Given the description of an element on the screen output the (x, y) to click on. 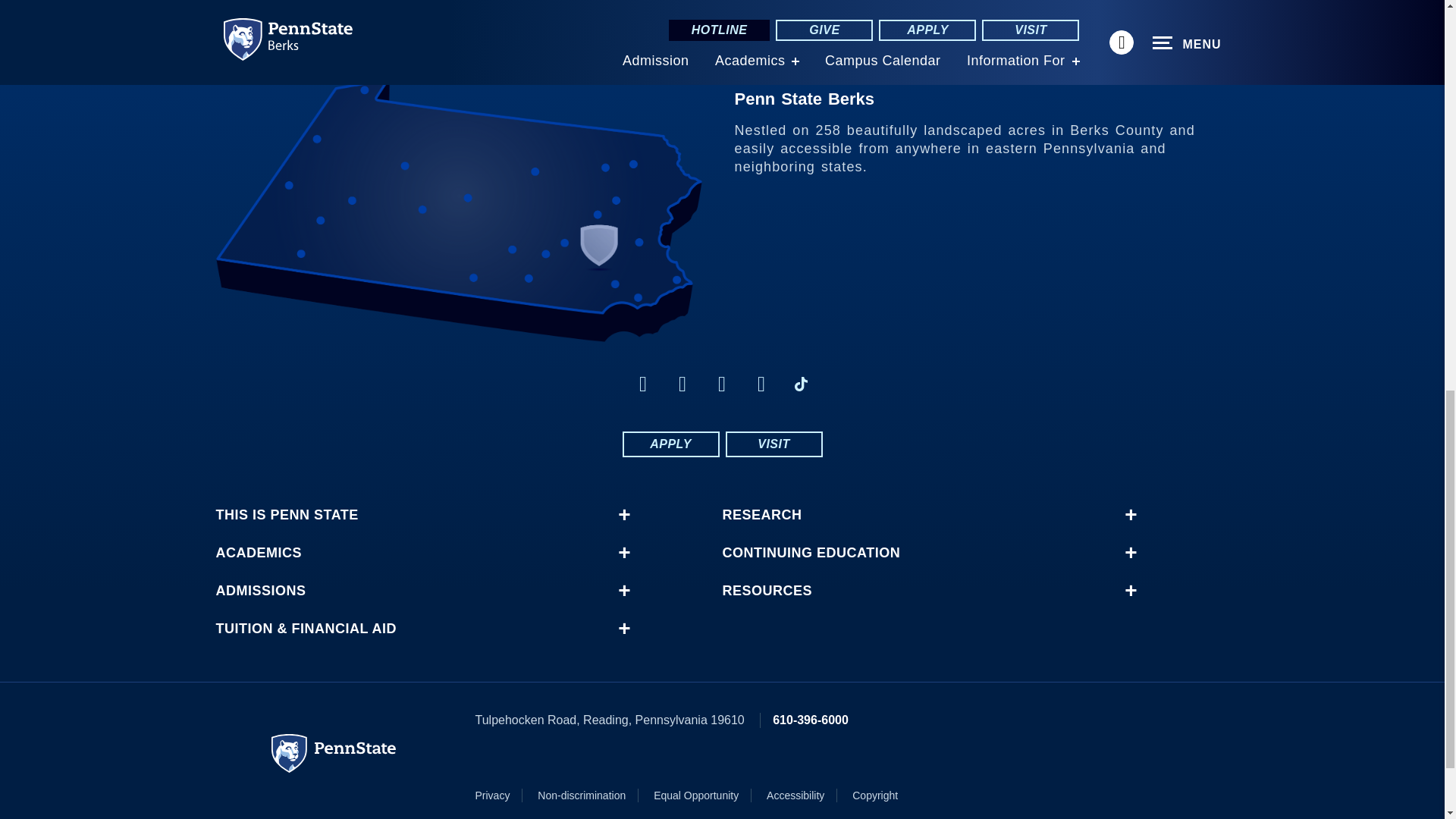
twitter (682, 383)
youtube (721, 383)
facebook (642, 383)
